Given the description of an element on the screen output the (x, y) to click on. 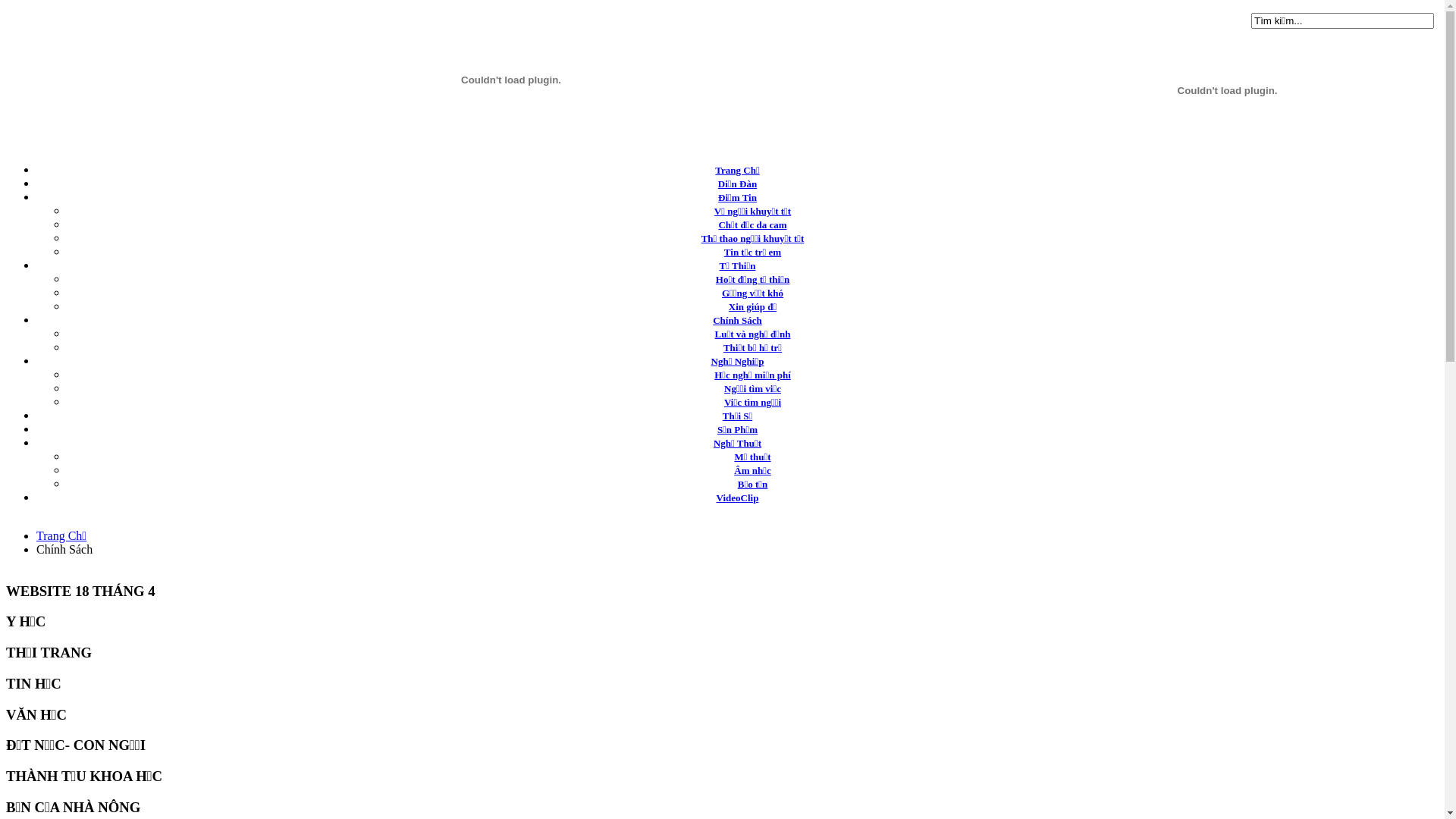
VideoClip Element type: text (737, 497)
